Given the description of an element on the screen output the (x, y) to click on. 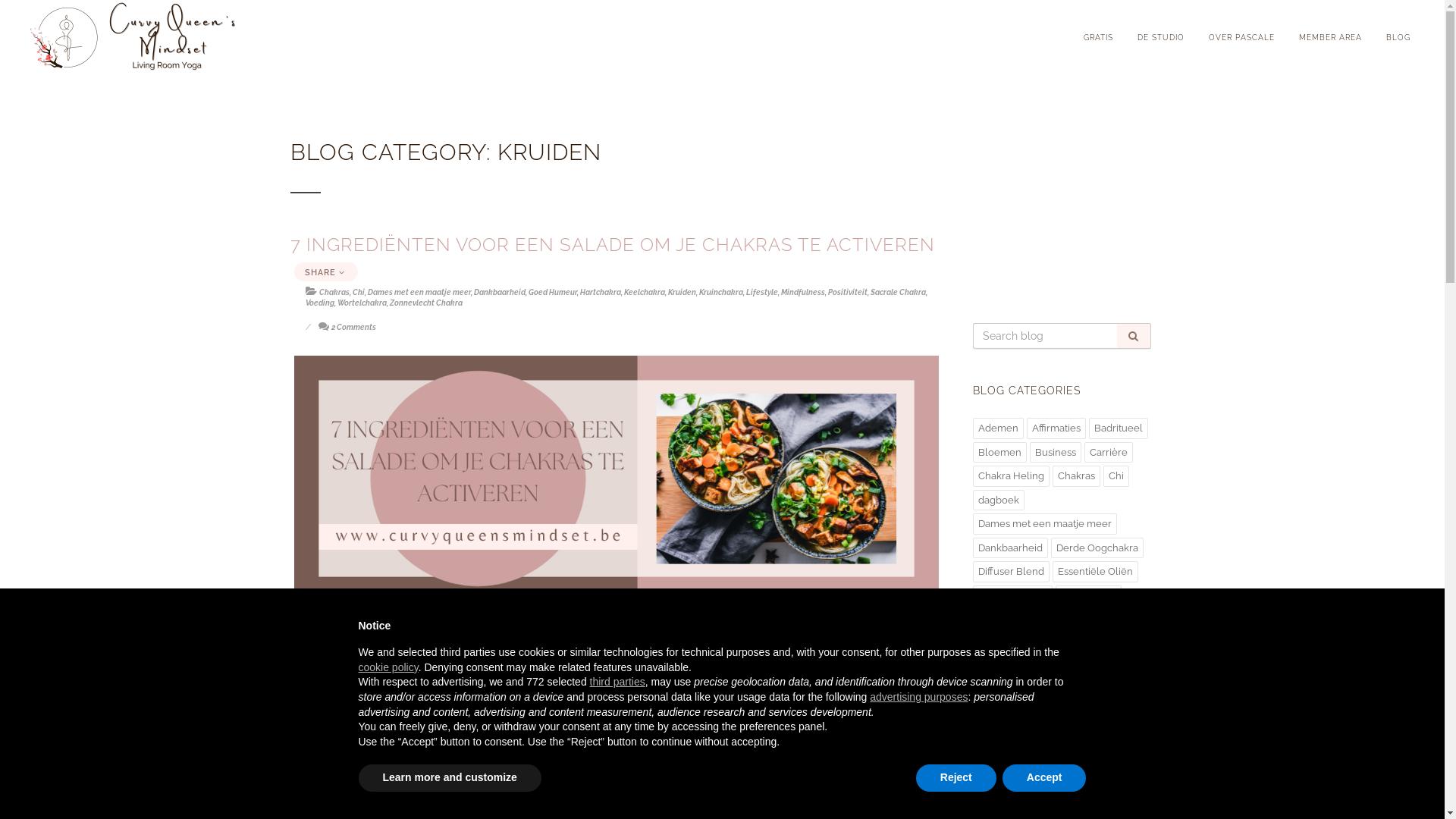
Zonnevlecht Chakra Element type: text (425, 302)
Reject Element type: text (956, 777)
Chakra Heling Element type: text (1010, 475)
Focus Element type: text (991, 619)
Keelchakra Element type: text (1048, 714)
Business Element type: text (1055, 451)
Chi Element type: text (1115, 475)
dagboek Element type: text (997, 500)
Voeding Element type: text (318, 302)
Mars Element type: text (1133, 762)
Kruiden Element type: text (995, 738)
In evenwicht brengen Element type: text (1093, 691)
Goed Humeur Element type: text (551, 292)
third parties Element type: text (617, 681)
Kruinchakra Element type: text (721, 292)
Chi Element type: text (357, 292)
OVER PASCALE Element type: text (1241, 37)
Bloemen Element type: text (999, 451)
Goed Humeur Element type: text (1108, 666)
Gewichtstoename Element type: text (1019, 666)
SHARE Element type: text (325, 271)
advertising purposes Element type: text (918, 696)
GRATIS Element type: text (1098, 37)
Ademen Element type: text (997, 428)
Derde Oogchakra Element type: text (1097, 547)
Maan Element type: text (1097, 762)
Meditatie Element type: text (998, 786)
Accept Element type: text (1044, 777)
Lavendel Element type: text (1119, 738)
Mindfulness Element type: text (803, 292)
Feestdagen Element type: text (1088, 595)
Lifestyle Element type: text (997, 762)
Dames met een maatje meer Element type: text (1044, 523)
Jupiter Element type: text (993, 714)
Hartchakra Element type: text (1002, 691)
Keelchakra Element type: text (643, 292)
Chakras Element type: text (333, 292)
Kruiden Element type: text (681, 292)
Geblokkeerde Chakra Element type: text (1028, 642)
Lifestyle Element type: text (762, 292)
Dankbaarheid Element type: text (498, 292)
DE STUDIO Element type: text (1160, 37)
Frankincense Element type: text (1051, 619)
Chakras Element type: text (1076, 475)
Diffuser Blend Element type: text (1010, 571)
Kristallen Element type: text (1111, 714)
Affirmaties Element type: text (1055, 428)
Learn more and customize Element type: text (448, 777)
Loslaten Element type: text (1050, 762)
BLOG Element type: text (1397, 37)
Positiviteit Element type: text (847, 292)
Badritueel Element type: text (1118, 428)
Kruinchakra Element type: text (1055, 738)
Dankbaarheid Element type: text (1009, 547)
cookie policy Element type: text (387, 667)
MEMBER AREA Element type: text (1330, 37)
Wortelchakra Element type: text (360, 302)
Mercurius Element type: text (1056, 786)
Sacrale Chakra Element type: text (897, 292)
Dames met een maatje meer Element type: text (418, 292)
Hartchakra Element type: text (599, 292)
2 Comments Element type: text (347, 327)
